Given the description of an element on the screen output the (x, y) to click on. 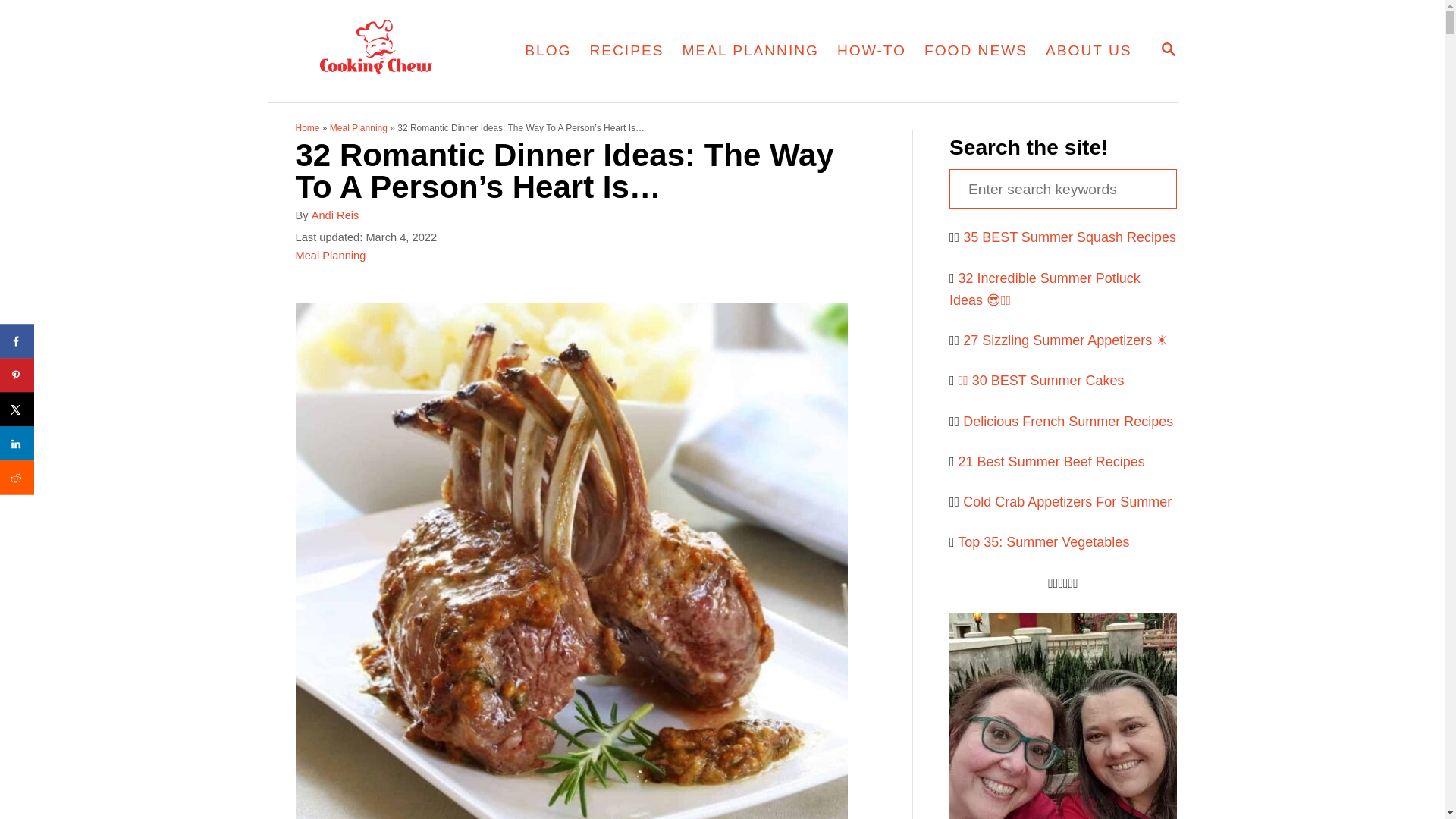
MEAL PLANNING (1167, 50)
RECIPES (750, 50)
Cooking Chew (625, 50)
BLOG (385, 51)
MAGNIFYING GLASS (547, 50)
